Given the description of an element on the screen output the (x, y) to click on. 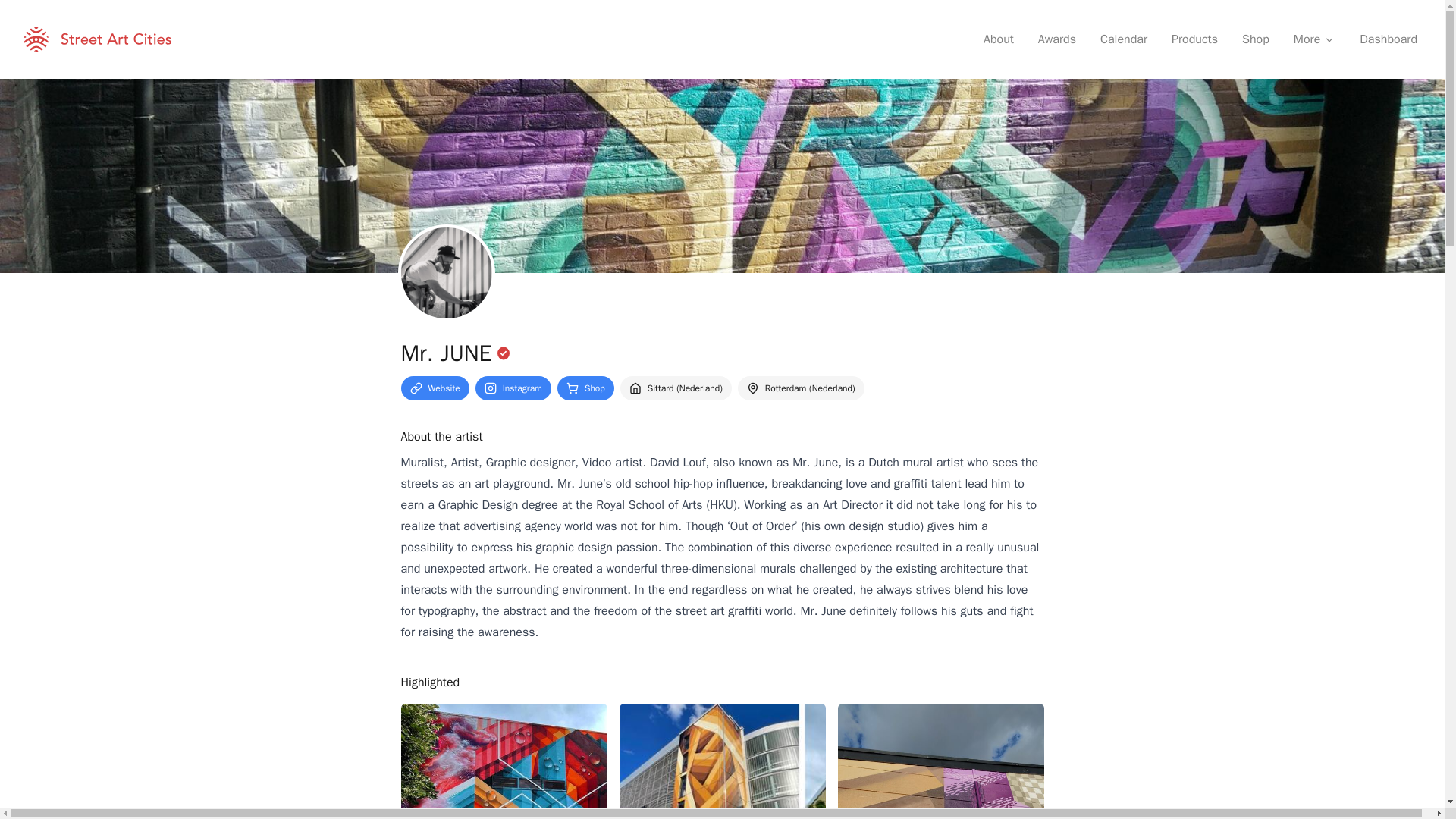
website (434, 387)
Instagram (513, 387)
Shop (585, 387)
More (1314, 39)
Shop (1255, 39)
Current city: Rotterdam, Nederland (801, 387)
instagram (513, 387)
Home town: Sittard, Nederland (676, 387)
untittled (503, 761)
Calendar (1122, 39)
Dashboard (1388, 39)
Untitled (940, 761)
Street Art Cities (97, 39)
Colors (721, 761)
About (998, 39)
